Given the description of an element on the screen output the (x, y) to click on. 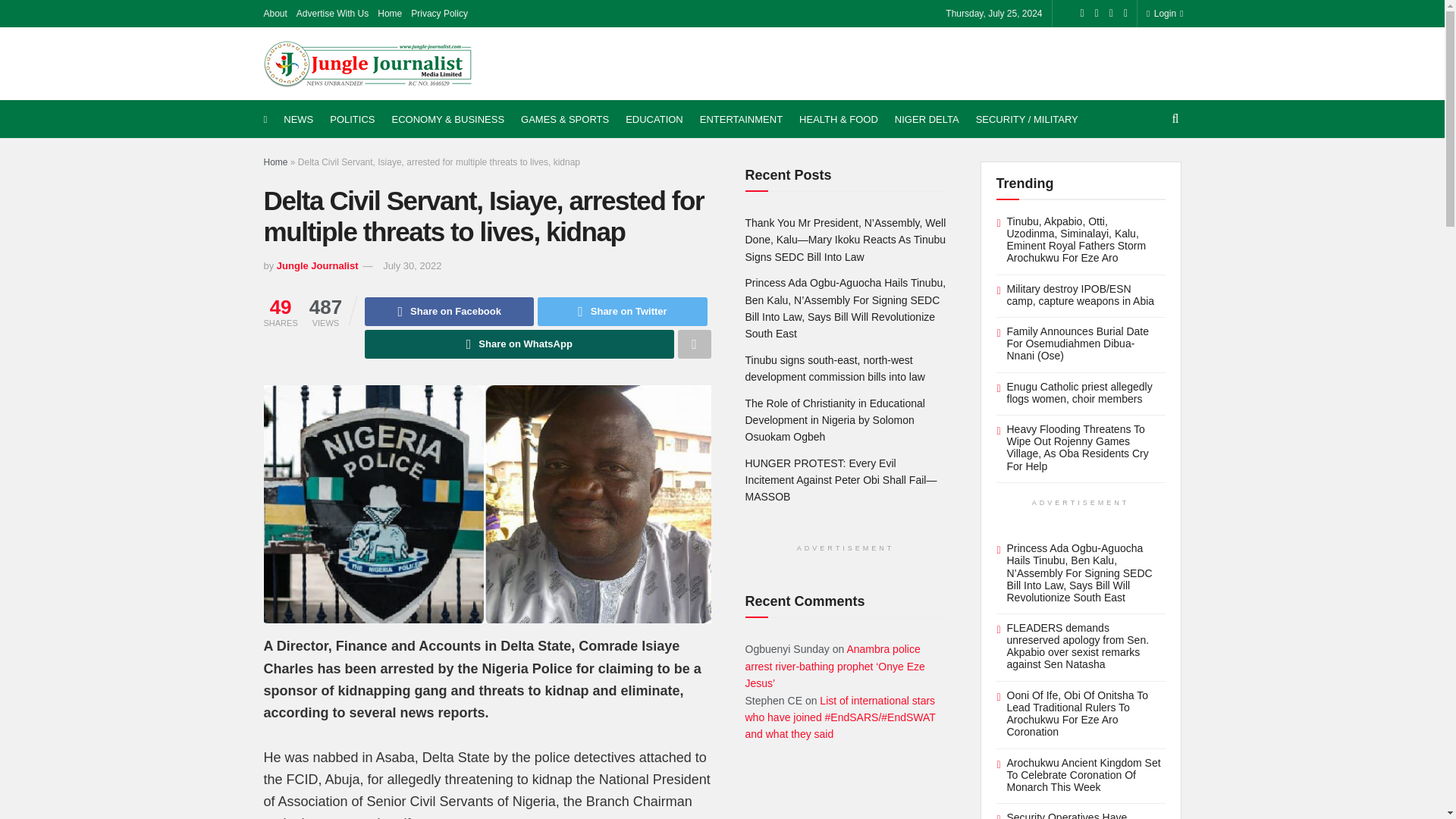
Home (389, 13)
NEWS (298, 119)
About (274, 13)
EDUCATION (654, 119)
Login (1161, 13)
NIGER DELTA (927, 119)
ENTERTAINMENT (741, 119)
Privacy Policy (438, 13)
POLITICS (352, 119)
Advertise With Us (332, 13)
